Given the description of an element on the screen output the (x, y) to click on. 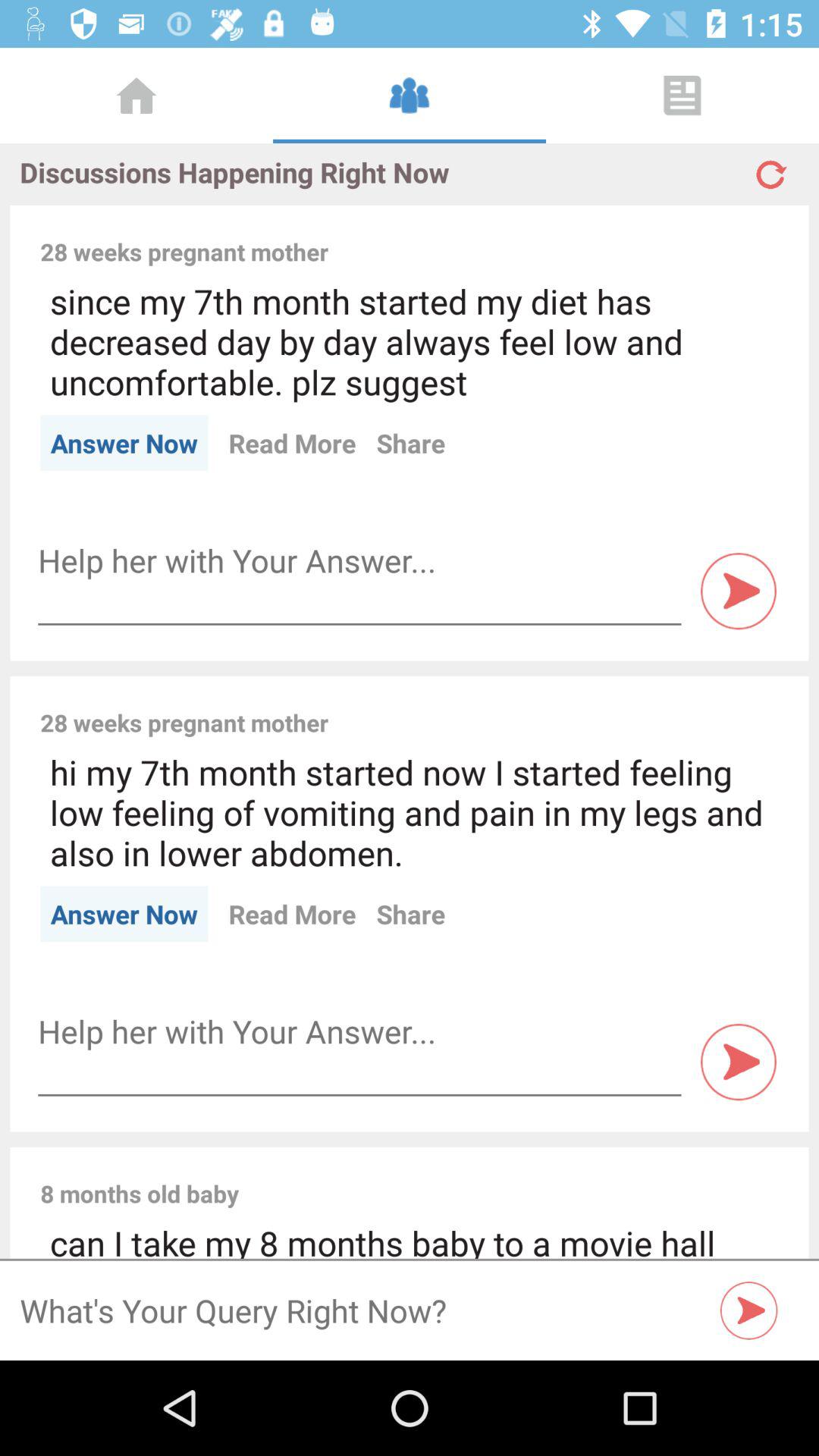
tap to answer (738, 1061)
